Given the description of an element on the screen output the (x, y) to click on. 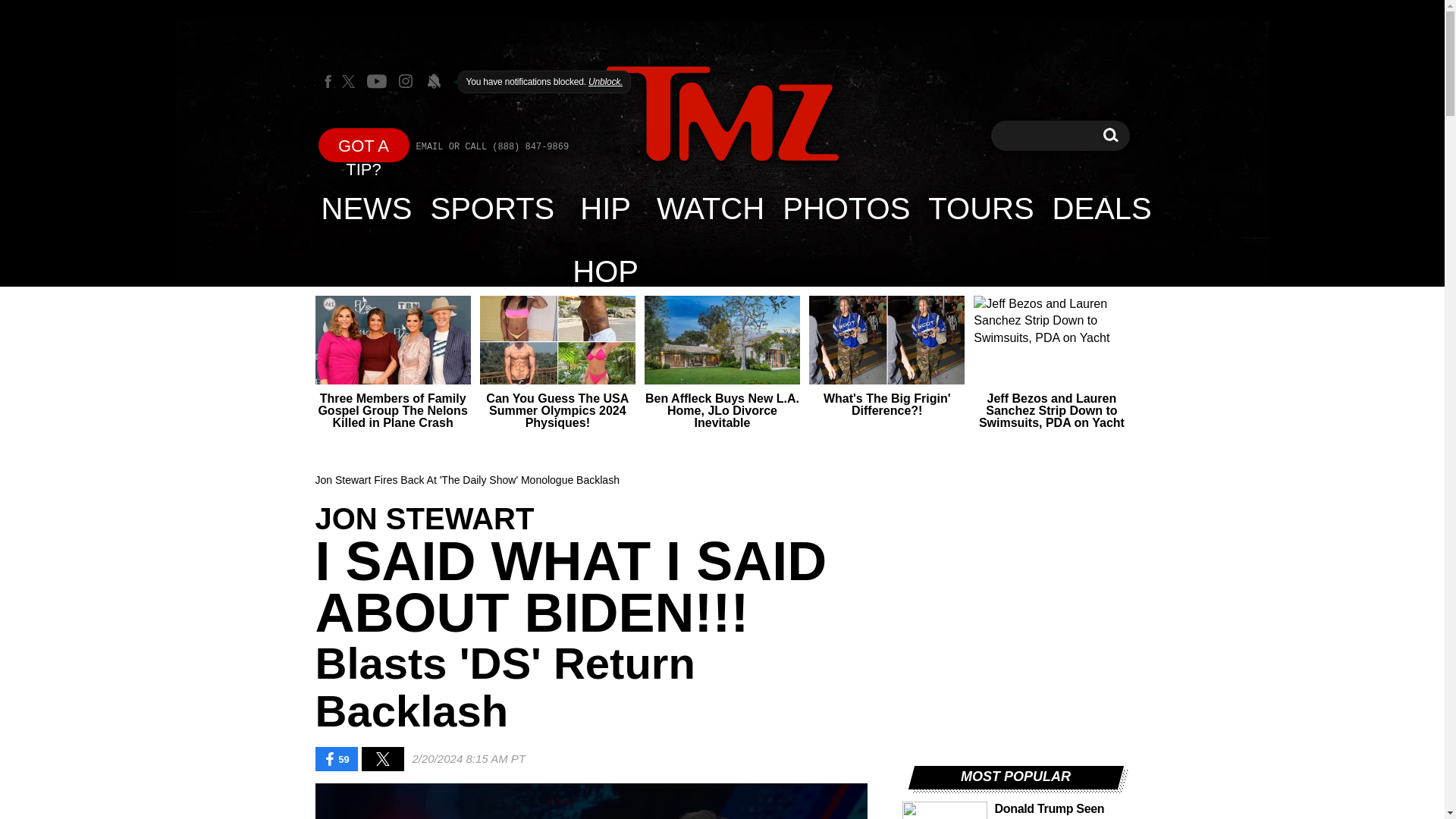
Search (1110, 134)
NEWS (367, 207)
SPORTS (493, 207)
TMZ (722, 115)
HIP HOP (605, 207)
DEALS (1101, 207)
TOURS (980, 207)
You have notifications blocked (434, 80)
GOT A TIP? (363, 144)
PHOTOS (845, 207)
WATCH (710, 207)
TMZ (722, 113)
